Given the description of an element on the screen output the (x, y) to click on. 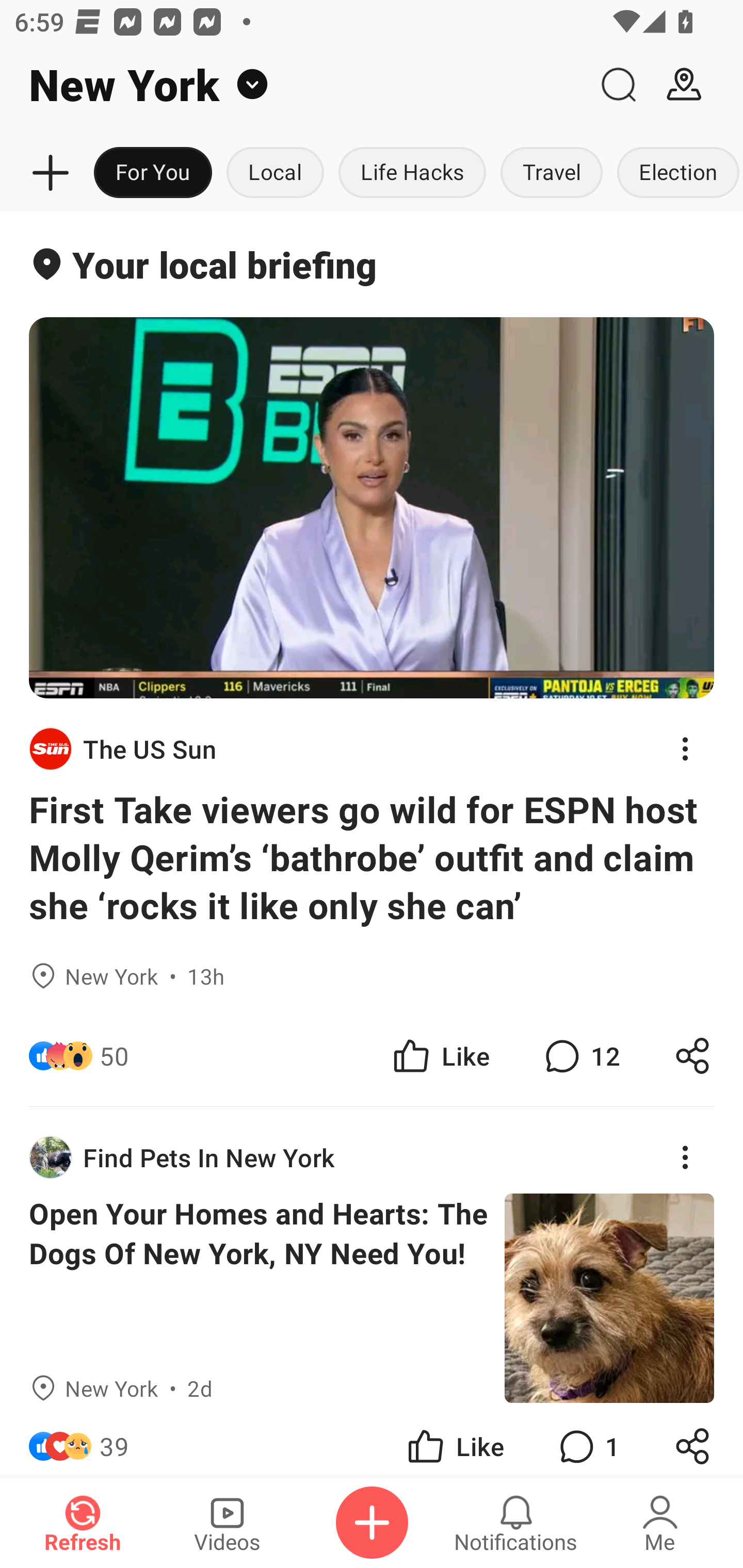
New York (292, 84)
For You (152, 172)
Local (275, 172)
Life Hacks (412, 172)
Travel (551, 172)
Election (676, 172)
50 (114, 1055)
Like (439, 1055)
12 (579, 1055)
39 (114, 1440)
Like (454, 1440)
1 (587, 1440)
Videos (227, 1522)
Notifications (516, 1522)
Me (659, 1522)
